Given the description of an element on the screen output the (x, y) to click on. 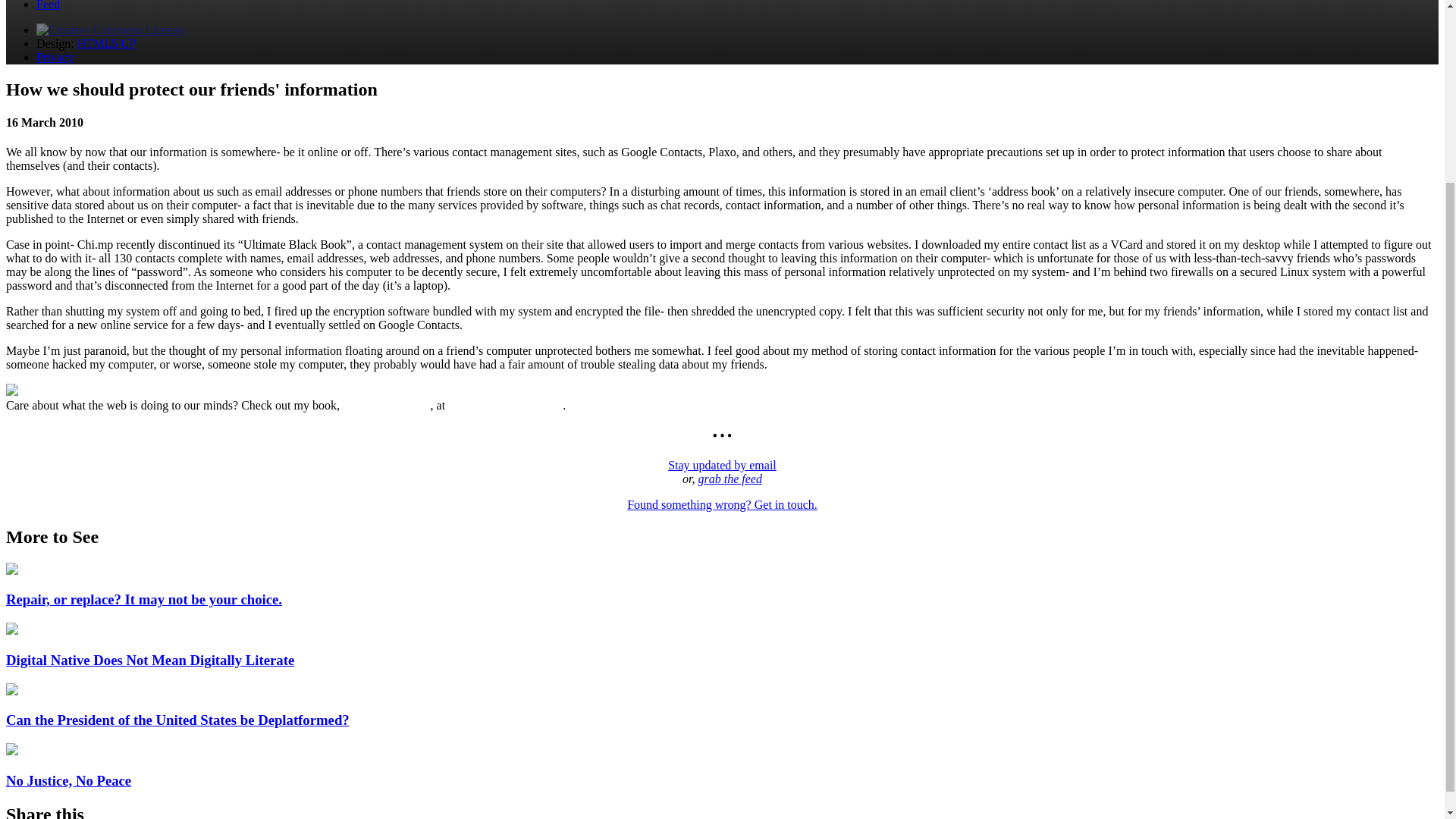
Privacy (55, 56)
Stay updated by email (722, 464)
Found something wrong? Get in touch. (721, 504)
Repair, or replace? It may not be your choice. (143, 599)
Digital Native Does Not Mean Digitally Literate (149, 659)
grab the feed (729, 478)
The Thought Trap (386, 404)
Can the President of the United States be Deplatformed? (177, 719)
No Justice, No Peace (68, 780)
HTML5 UP (106, 42)
Feed (47, 5)
book.thenaterhood.com (505, 404)
